Given the description of an element on the screen output the (x, y) to click on. 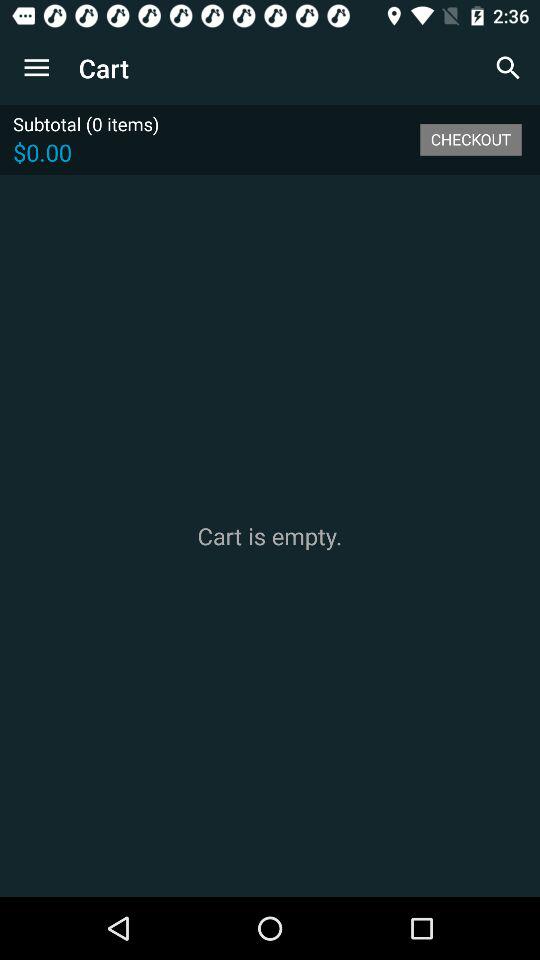
turn on the item above the subtotal (0 items) (36, 68)
